Given the description of an element on the screen output the (x, y) to click on. 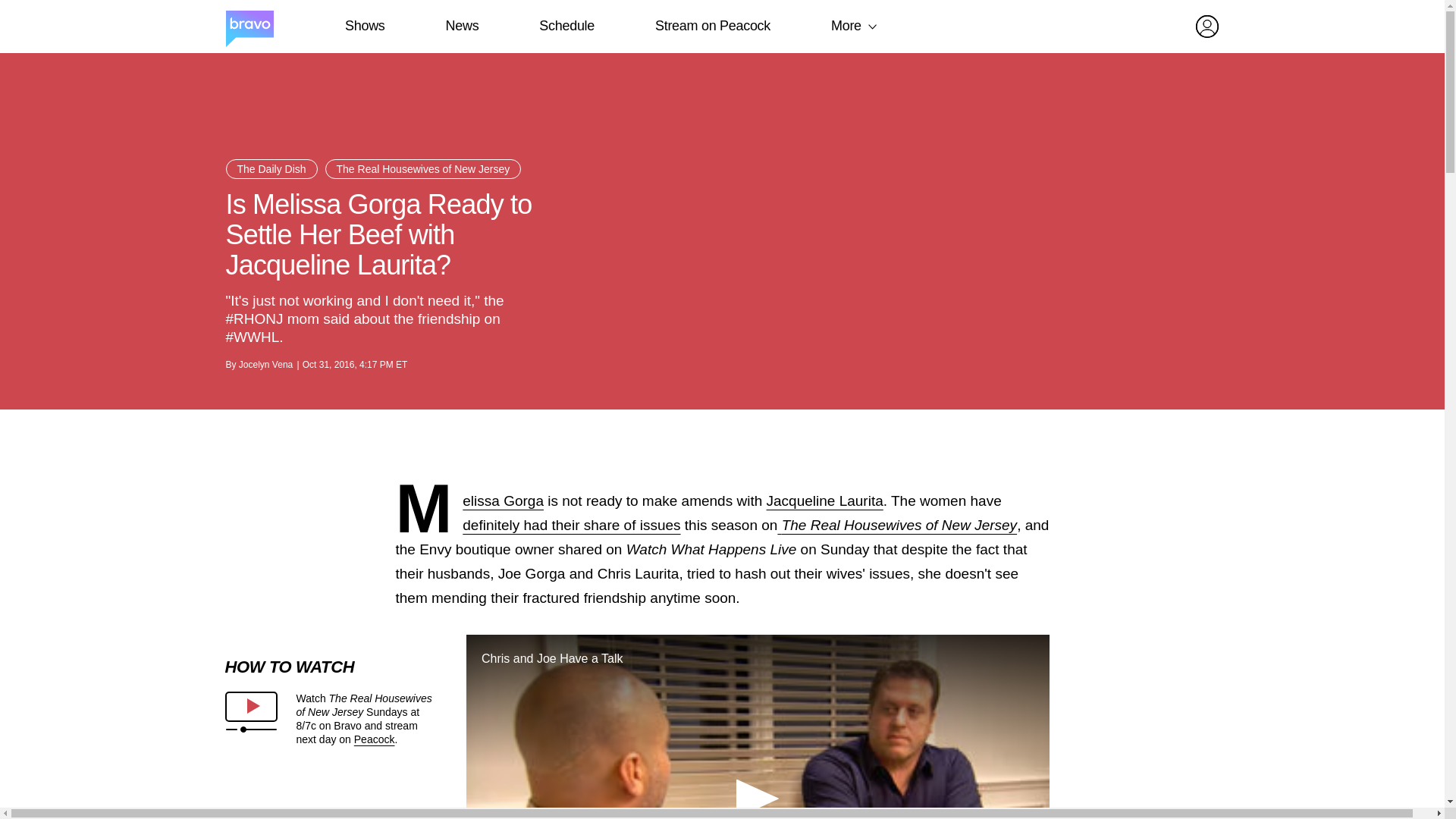
The Real Housewives of New Jersey (896, 524)
Jacqueline Laurita (825, 500)
The Daily Dish (271, 168)
Melissa Gorga (503, 500)
Schedule (566, 26)
Home (249, 26)
More (846, 26)
Peacock (373, 739)
News (462, 26)
Jocelyn Vena (265, 364)
The Real Housewives of New Jersey (422, 168)
Stream on Peacock (712, 26)
Shows (363, 26)
definitely had their share of issues (571, 524)
